Given the description of an element on the screen output the (x, y) to click on. 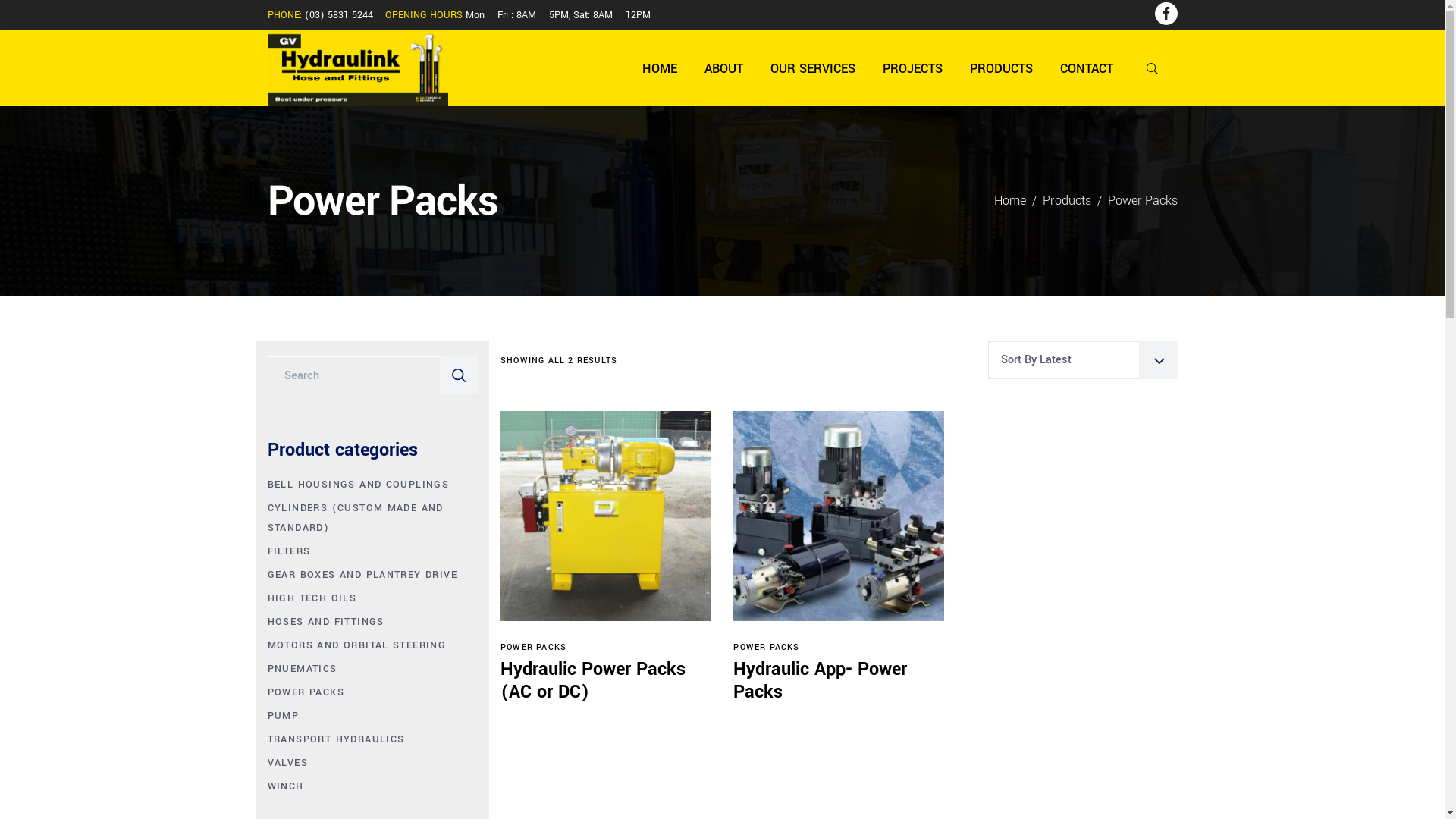
POWER PACKS Element type: text (766, 646)
Products Element type: text (1065, 200)
HOME Element type: text (658, 67)
BELL HOUSINGS AND COUPLINGS Element type: text (363, 484)
PNUEMATICS Element type: text (307, 668)
POWER PACKS Element type: text (533, 646)
POWER PACKS Element type: text (310, 692)
PUMP Element type: text (288, 715)
WINCH Element type: text (290, 786)
HOSES AND FITTINGS Element type: text (330, 621)
ABOUT Element type: text (723, 67)
Home Element type: text (1009, 200)
PROJECTS Element type: text (912, 67)
Hydraulic App- Power Packs Element type: text (819, 680)
MOTORS AND ORBITAL STEERING Element type: text (361, 645)
Search for: Element type: hover (353, 375)
TRANSPORT HYDRAULICS Element type: text (340, 739)
PRODUCTS Element type: text (1000, 67)
FILTERS Element type: text (293, 551)
GEAR BOXES AND PLANTREY DRIVE Element type: text (367, 574)
OUR SERVICES Element type: text (812, 67)
Read more Element type: text (606, 640)
HIGH TECH OILS Element type: text (316, 598)
CONTACT Element type: text (1086, 67)
CYLINDERS (CUSTOM MADE AND STANDARD) Element type: text (371, 517)
Read more Element type: text (839, 640)
Hydraulic Power Packs (AC or DC) Element type: text (592, 680)
VALVES Element type: text (292, 762)
